Given the description of an element on the screen output the (x, y) to click on. 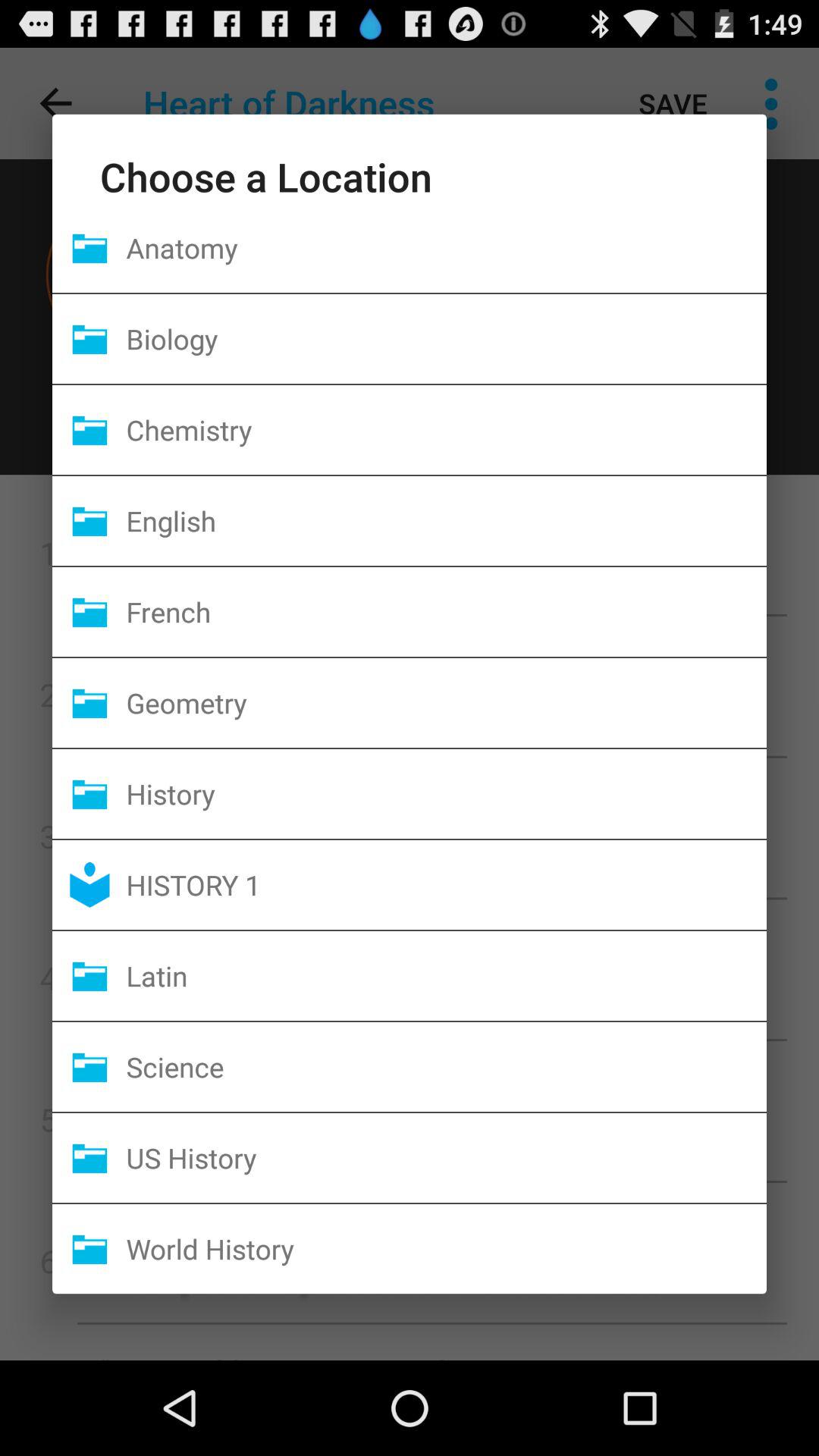
jump until the latin item (446, 975)
